Given the description of an element on the screen output the (x, y) to click on. 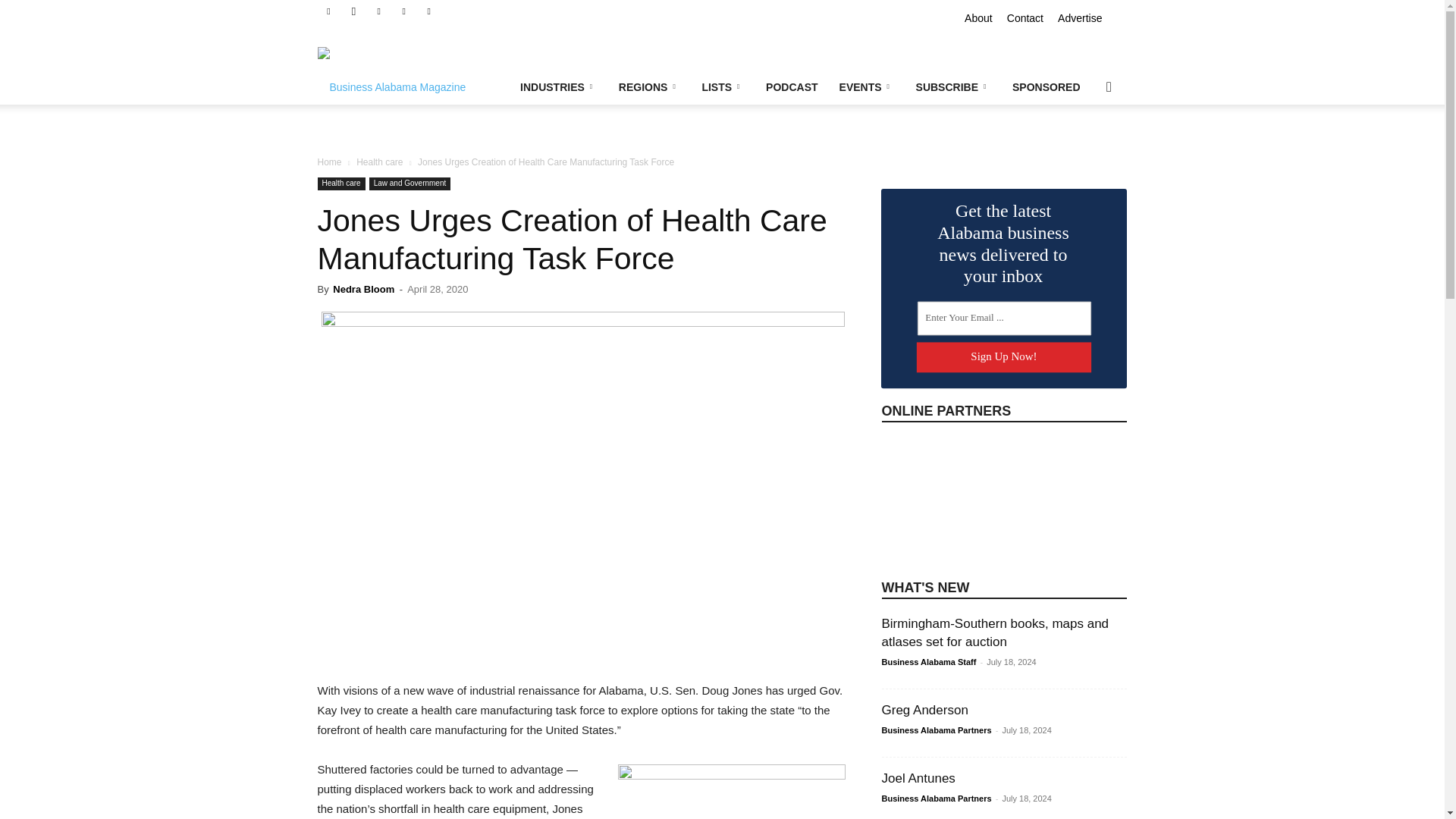
View all posts in Health care (379, 162)
Business Alabama Magazine (391, 76)
Facebook (328, 10)
Spotify (403, 10)
Linkedin (379, 10)
Instagram (353, 10)
Twitter (429, 10)
